Given the description of an element on the screen output the (x, y) to click on. 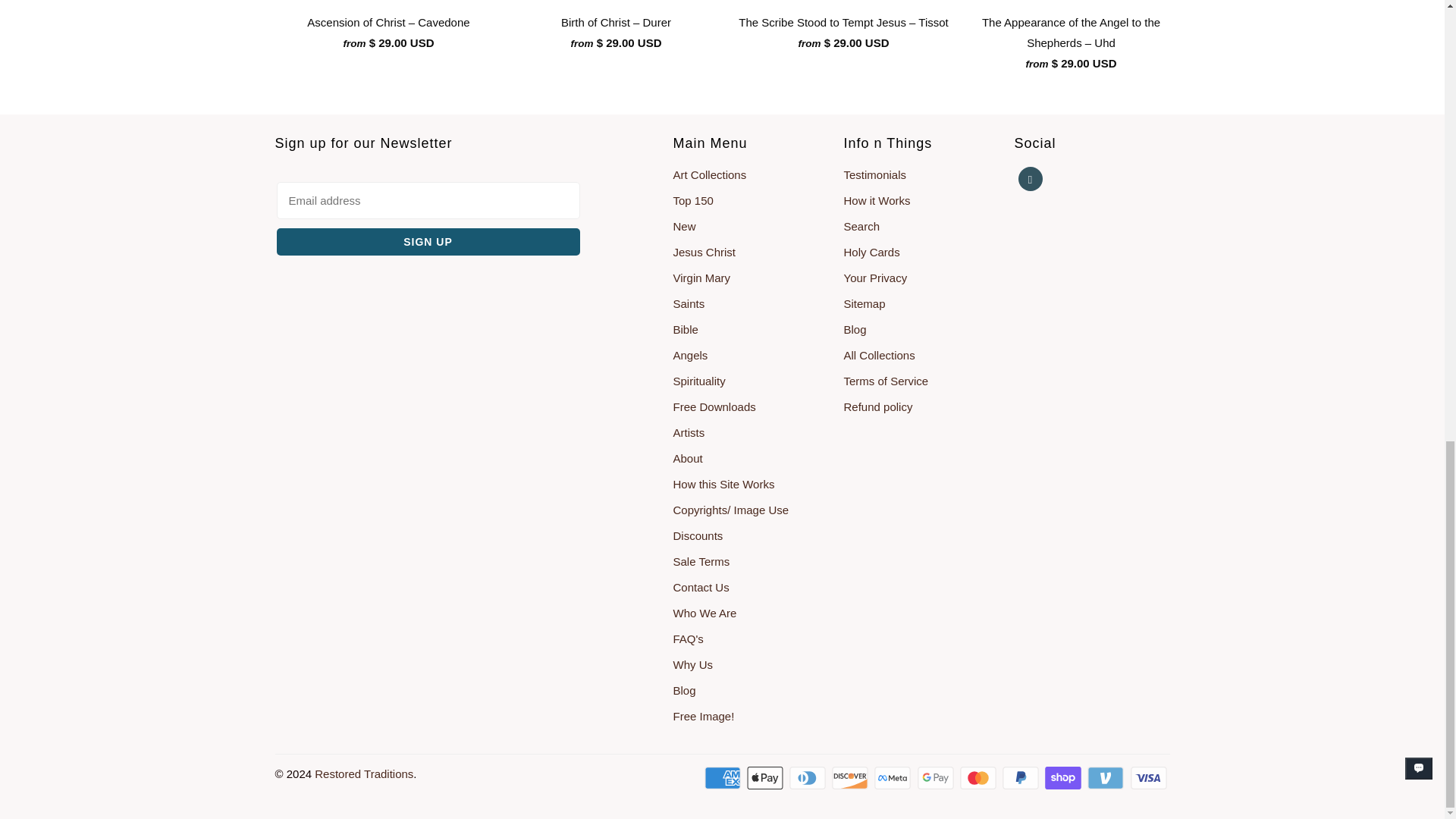
Diners Club (808, 777)
Google Pay (936, 777)
Sign Up (427, 241)
Restored Traditions on Facebook (1029, 178)
Visa (1149, 777)
Discover (850, 777)
PayPal (1022, 777)
Mastercard (978, 777)
American Express (724, 777)
Meta Pay (894, 777)
